Given the description of an element on the screen output the (x, y) to click on. 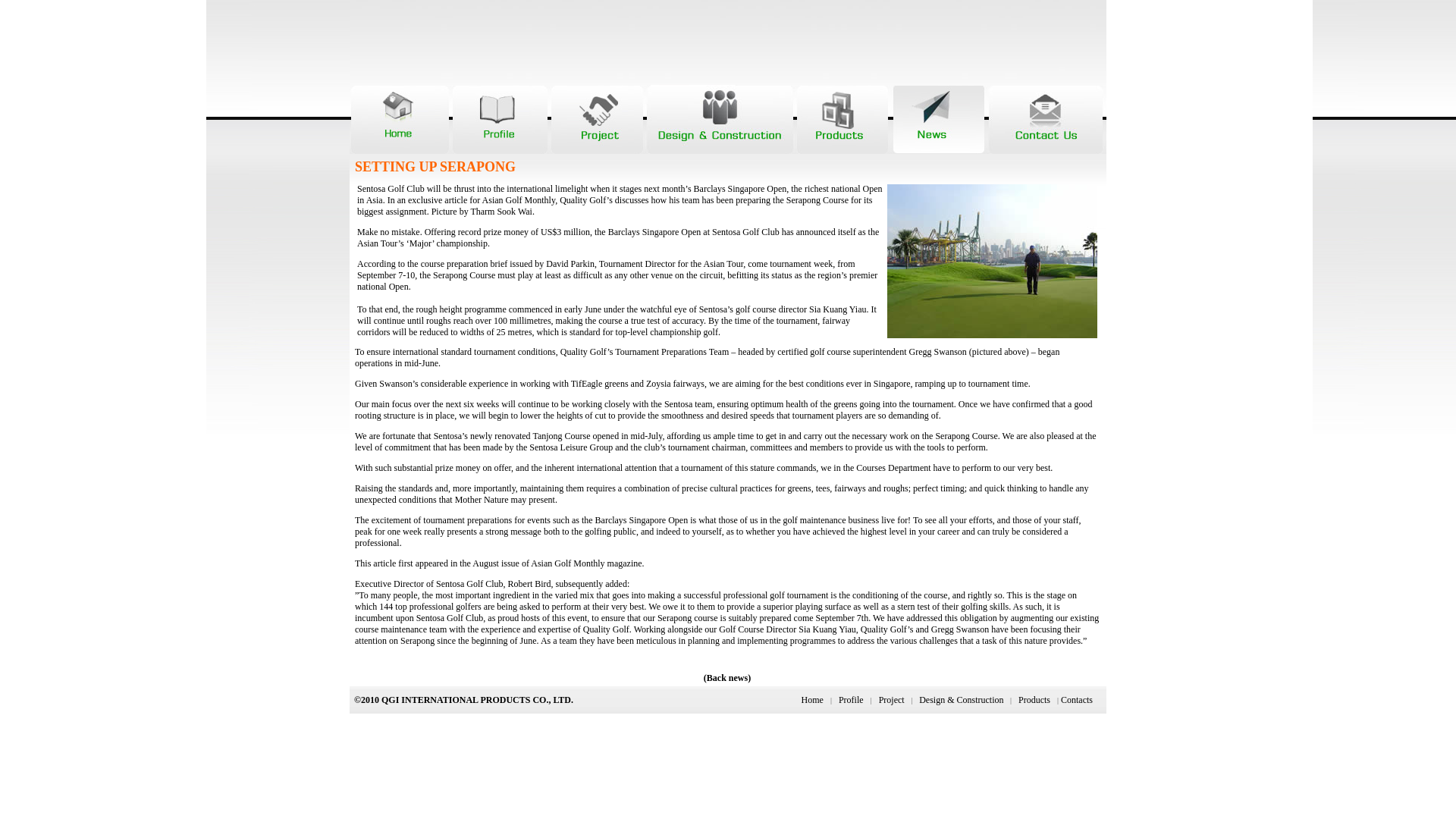
Products (1033, 699)
Home (813, 699)
Contacts (1077, 699)
Project (891, 699)
Profile (850, 699)
